Given the description of an element on the screen output the (x, y) to click on. 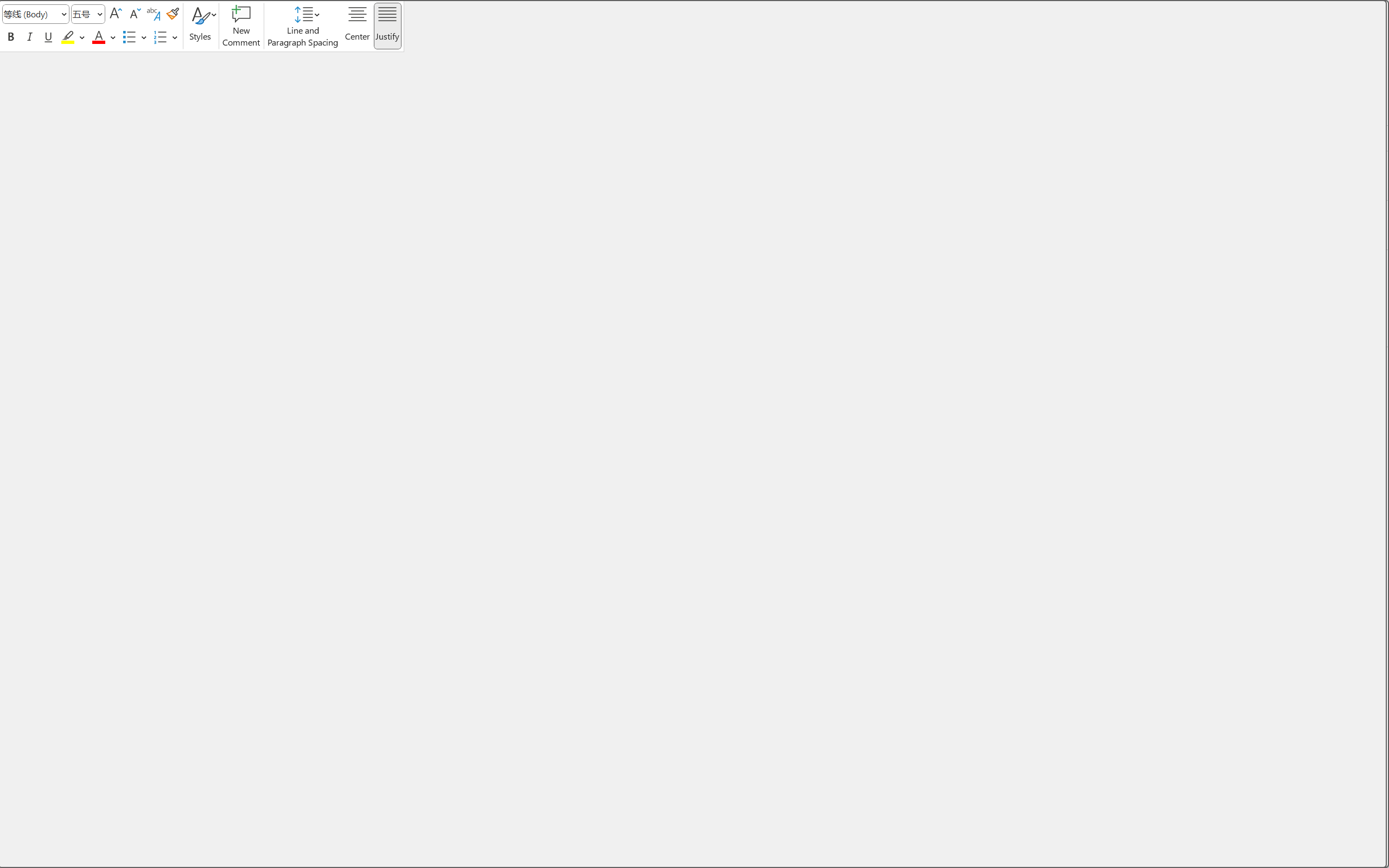
Keep Text Only (86, 110)
Keep Source Formatting (39, 110)
Context Menu (694, 434)
Font... (694, 163)
Synonyms (694, 286)
Paste Options (707, 98)
Text Direction... (694, 212)
Read Aloud (694, 310)
Class: NetUITWMenuContainer (694, 433)
Copy (694, 61)
Cut (694, 38)
Search "Earth is the th..." (694, 262)
Translate (694, 334)
Paragraph... (694, 187)
